Given the description of an element on the screen output the (x, y) to click on. 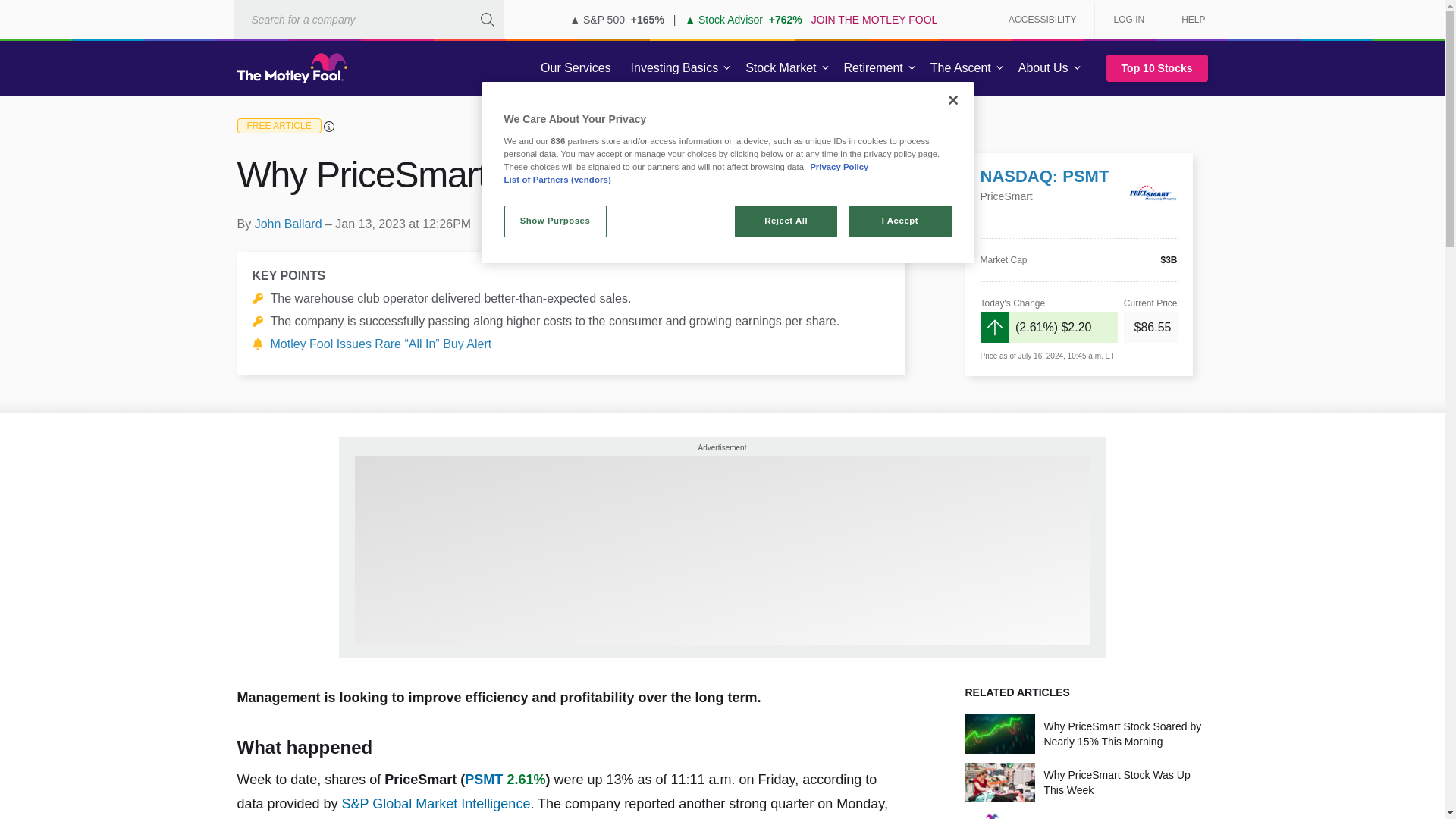
ACCESSIBILITY (1042, 19)
Investing Basics (674, 67)
HELP (1187, 19)
Stock Market (780, 67)
Our Services (574, 67)
LOG IN (1128, 19)
